Given the description of an element on the screen output the (x, y) to click on. 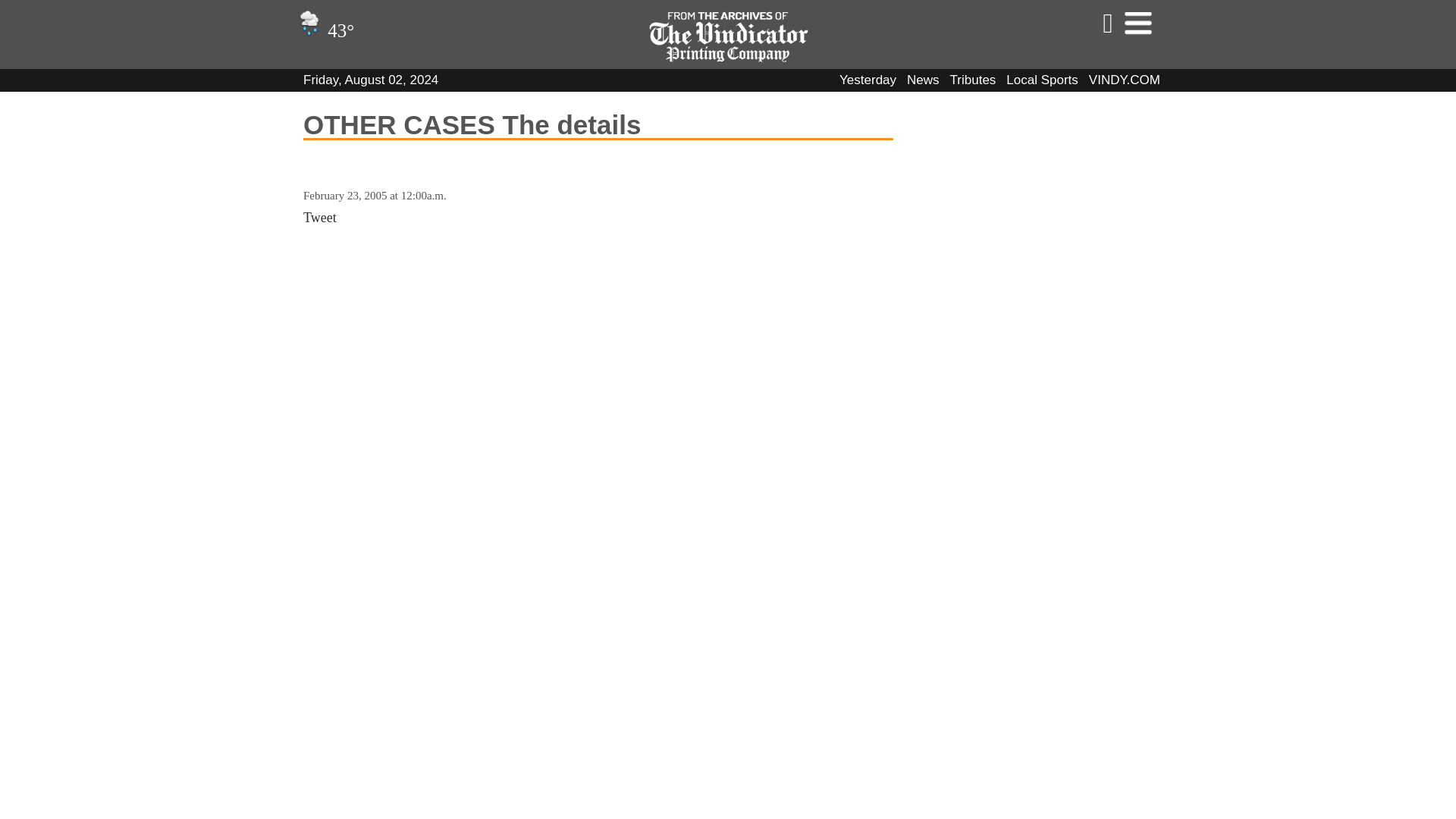
News (923, 79)
Local Sports (1042, 79)
Tweet (319, 217)
VINDY.COM (1124, 79)
Friday, August 02, 2024 (370, 79)
Yesterday (868, 79)
Tributes (972, 79)
